Given the description of an element on the screen output the (x, y) to click on. 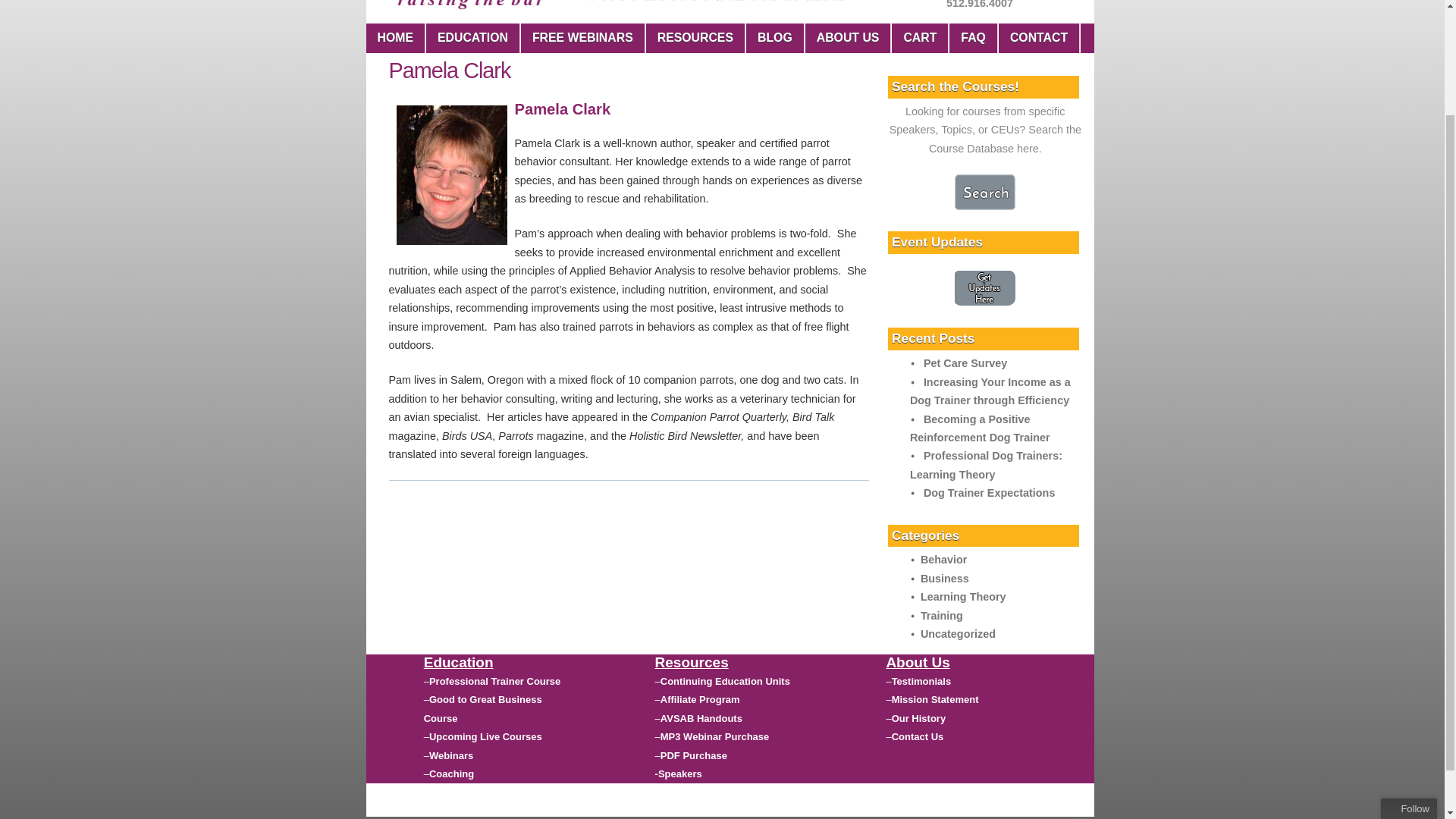
EDUCATION (472, 38)
Professional Dog Trainers: Learning Theory (986, 464)
Dog Trainer Expectations (989, 492)
Behavior (944, 559)
HOME (395, 38)
FAQ (973, 38)
Pet Care Survey (965, 363)
Becoming a Positive Reinforcement Dog Trainer (979, 427)
BLOG (775, 38)
Learning Theory (963, 596)
